Given the description of an element on the screen output the (x, y) to click on. 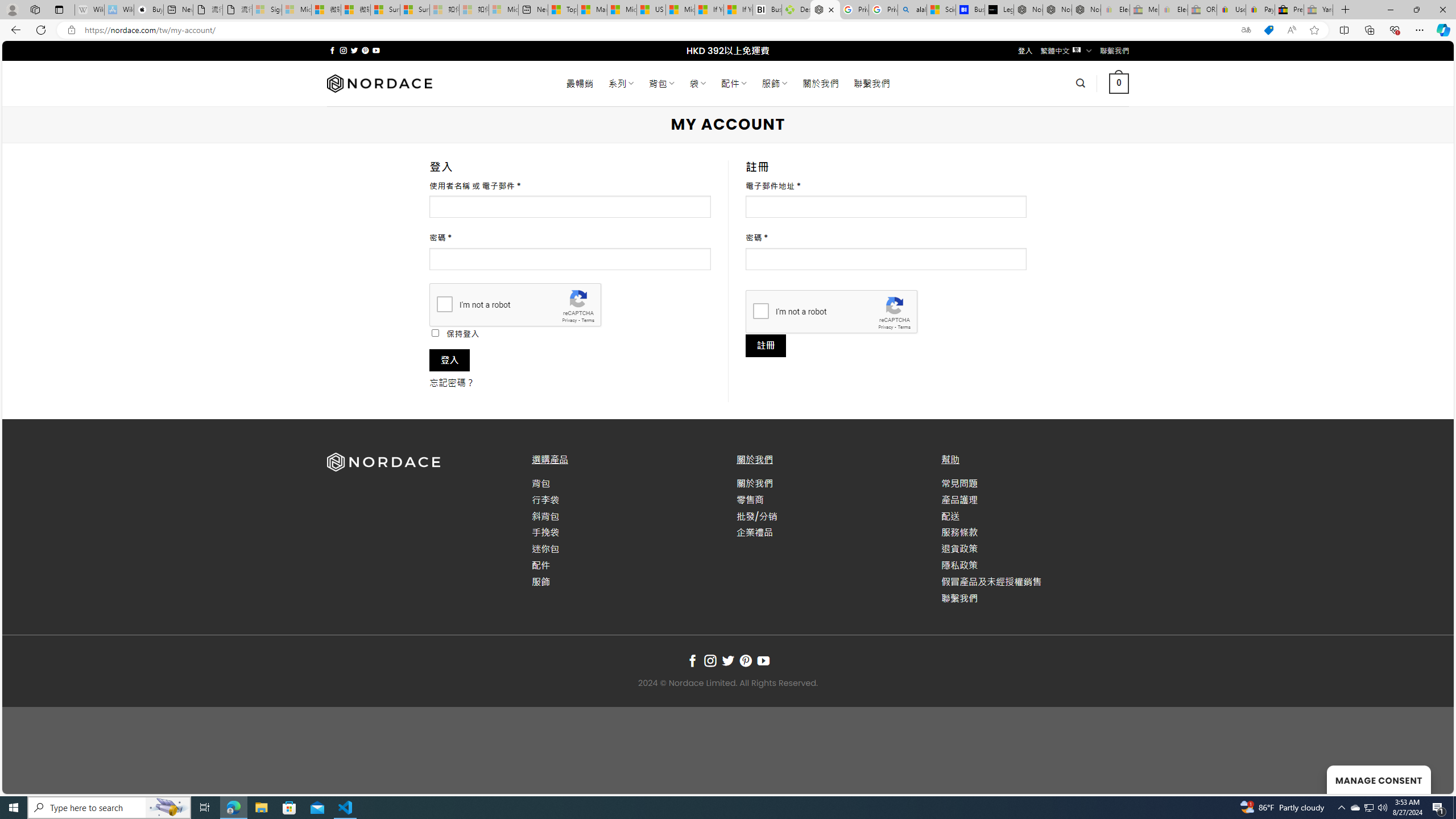
 0  (1118, 83)
Follow on Pinterest (745, 660)
Follow on Twitter (727, 660)
Wikipedia - Sleeping (89, 9)
